Given the description of an element on the screen output the (x, y) to click on. 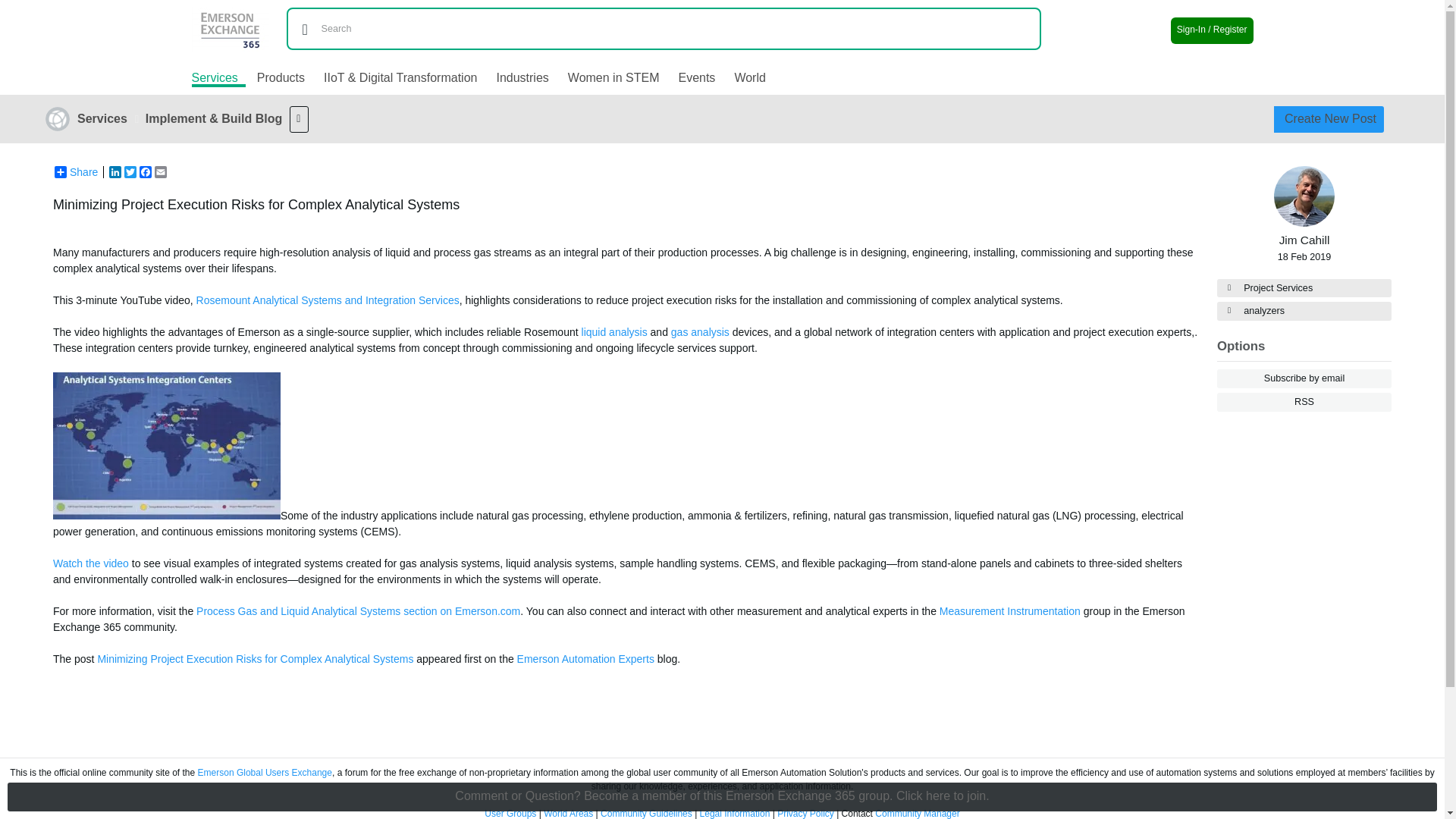
Women in STEM (613, 77)
Services (217, 78)
Products (280, 77)
Join or Sign In (1211, 29)
Industries (521, 77)
Services (102, 118)
Home (237, 20)
World (749, 77)
Events (695, 77)
